Given the description of an element on the screen output the (x, y) to click on. 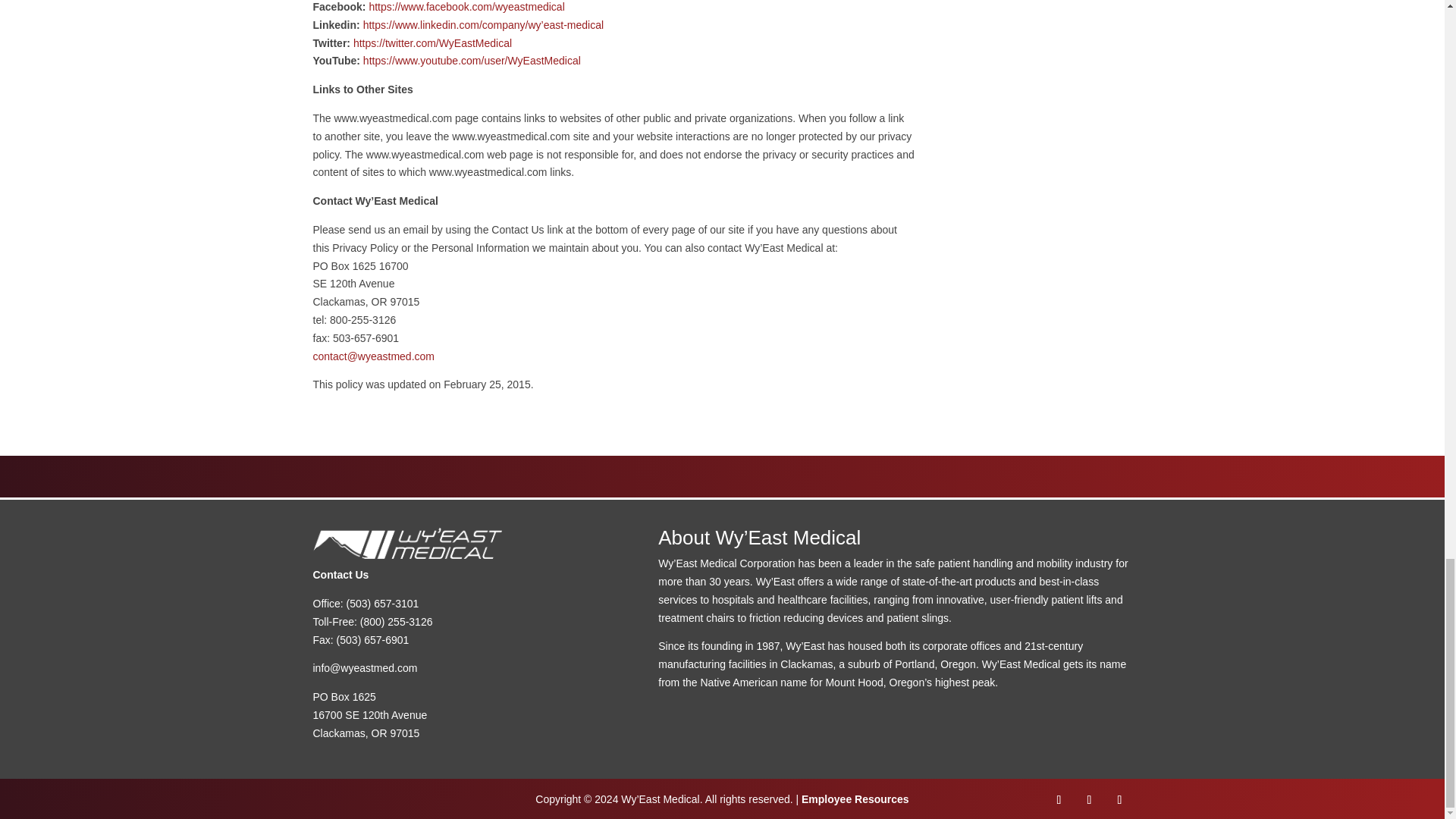
Follow on LinkedIn (1088, 799)
Follow on Facebook (1058, 799)
wyeast-logo-white (407, 542)
Follow on Youtube (1118, 799)
